Given the description of an element on the screen output the (x, y) to click on. 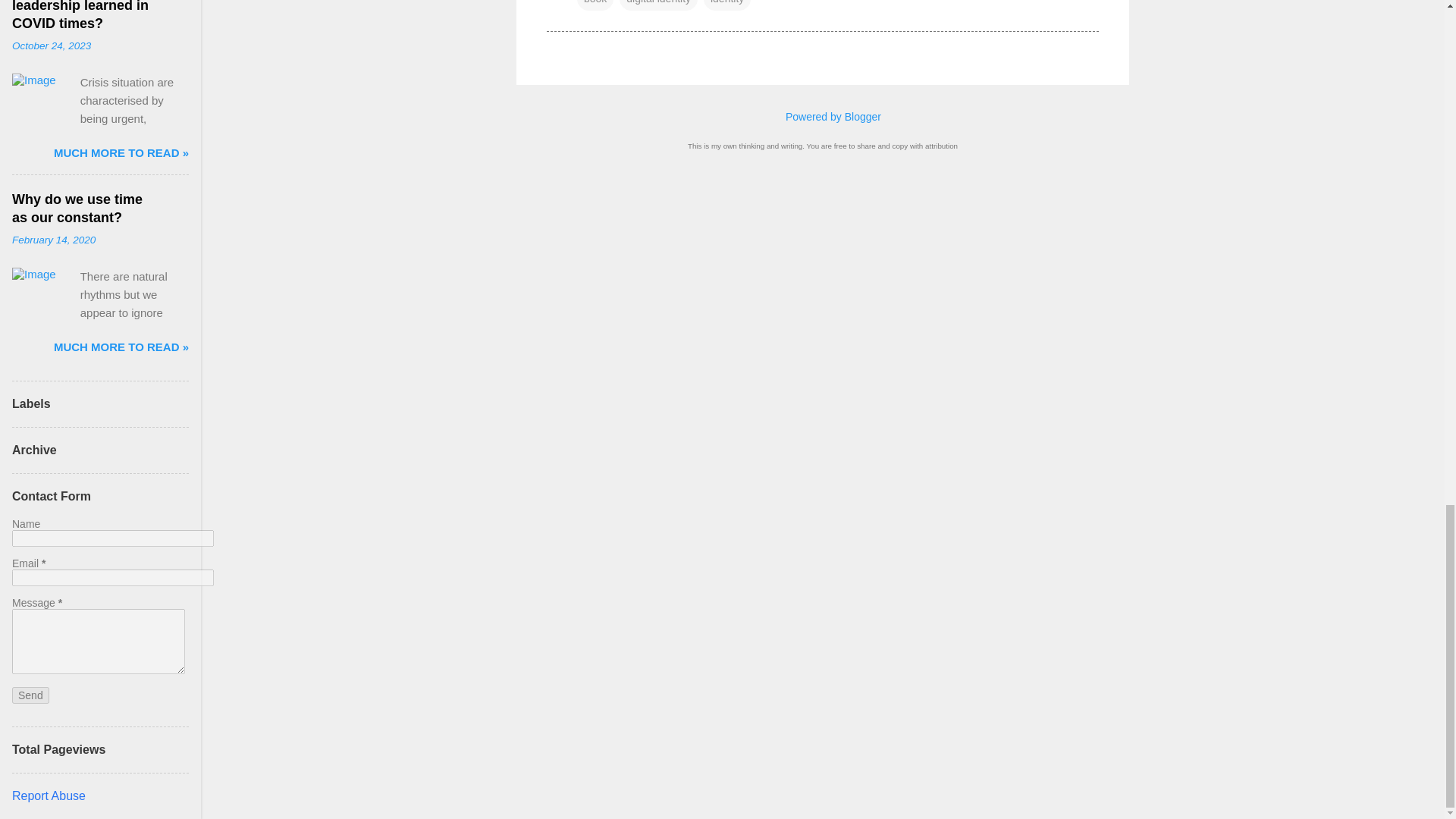
identity (727, 5)
Send (30, 695)
book (594, 5)
October 24, 2023 (50, 45)
Powered by Blogger (822, 116)
digital identity (658, 5)
